Given the description of an element on the screen output the (x, y) to click on. 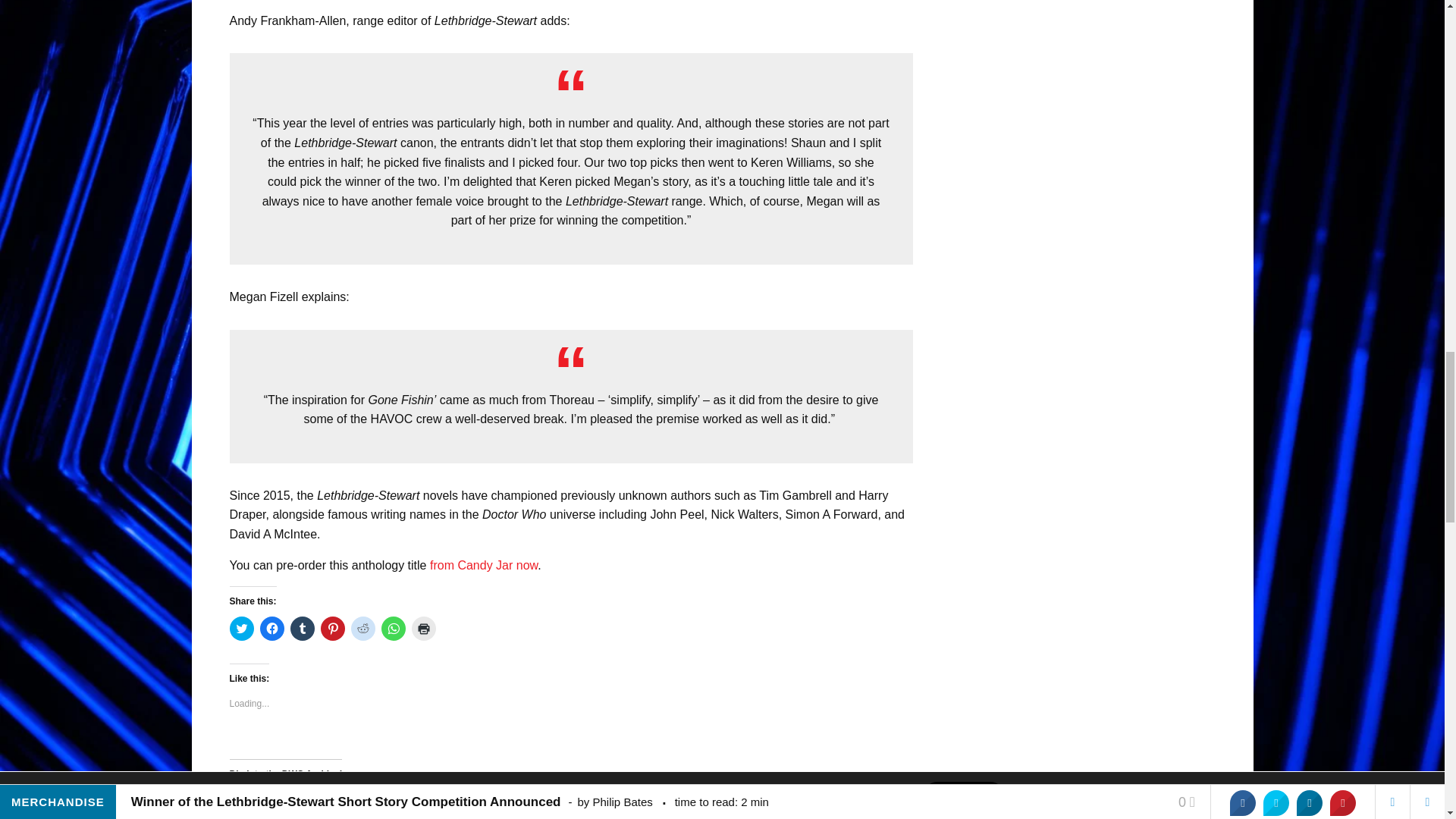
Lethbridge-Stewart South Wales Short Story Competition (794, 803)
Click to share on Pinterest (331, 628)
Click to share on Reddit (362, 628)
Click to share on Facebook (271, 628)
Click to print (422, 628)
Click to share on Twitter (240, 628)
Click to share on Tumblr (301, 628)
Click to share on WhatsApp (392, 628)
Lethbridge-Stewart South Wales Short Story Competition (805, 803)
